Given the description of an element on the screen output the (x, y) to click on. 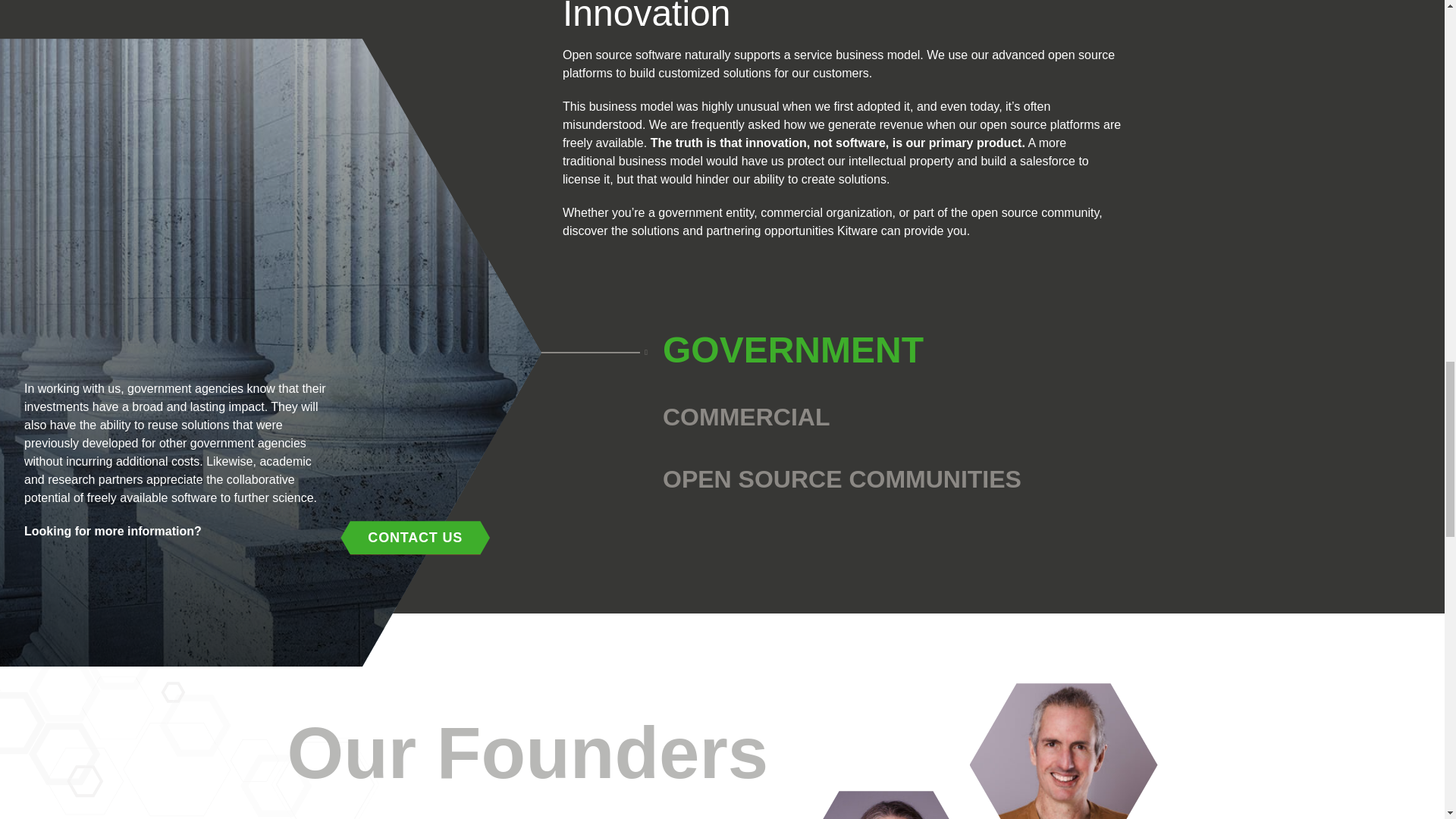
CONTACT US (414, 537)
COMMERCIAL (745, 416)
GOVERNMENT (792, 350)
OPEN SOURCE COMMUNITIES (842, 479)
